Given the description of an element on the screen output the (x, y) to click on. 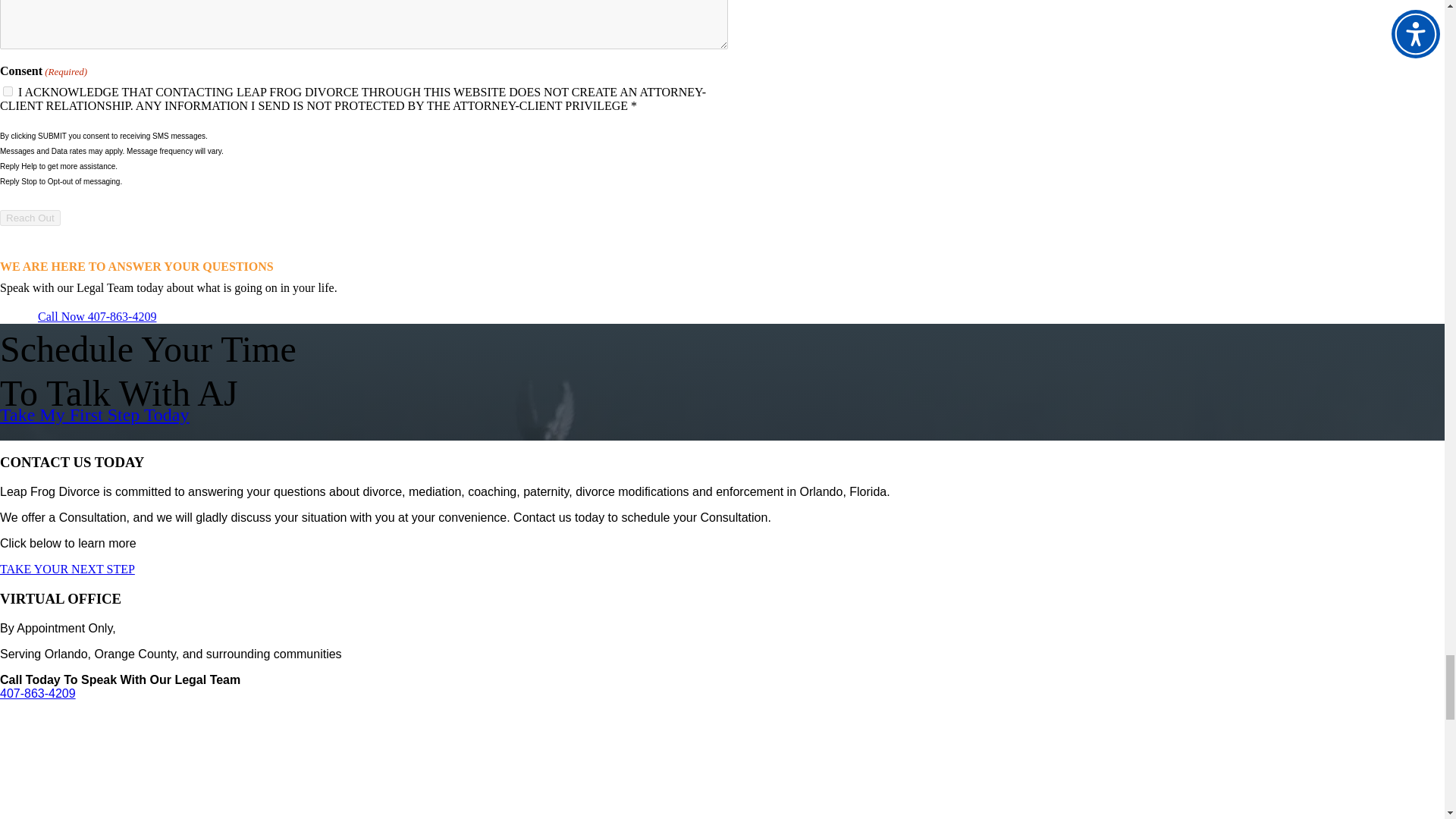
IQL-Badge-1.0 (60, 765)
Reach Out (30, 217)
1 (7, 91)
